Given the description of an element on the screen output the (x, y) to click on. 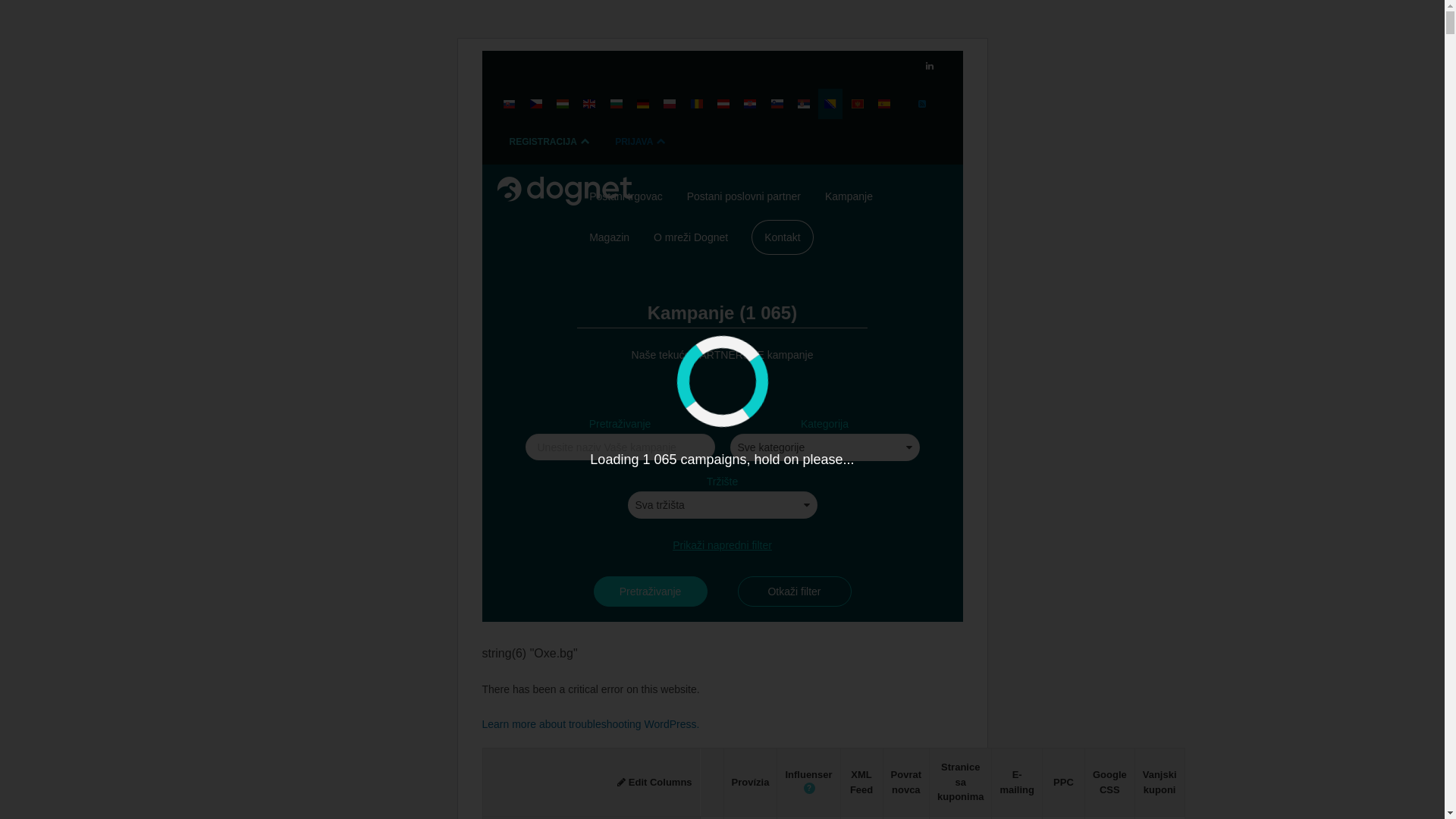
Kontakt Element type: text (782, 236)
Learn more about troubleshooting WordPress. Element type: text (590, 724)
Magazin Element type: text (609, 236)
Magyar Element type: hover (562, 103)
Postani trgovac Element type: text (625, 196)
PRIJAVA Element type: text (640, 141)
REGISTRACIJA Element type: text (550, 141)
Montenegrin Element type: hover (857, 103)
? Element type: text (809, 787)
English Element type: hover (589, 103)
Hrvatski Element type: hover (749, 103)
Deutsch Element type: hover (642, 103)
Postani poslovni partner Element type: text (743, 196)
Bosnian Element type: hover (830, 103)
Kampanje Element type: text (848, 196)
RSS Feed Element type: hover (921, 103)
polski Element type: hover (669, 103)
